Given the description of an element on the screen output the (x, y) to click on. 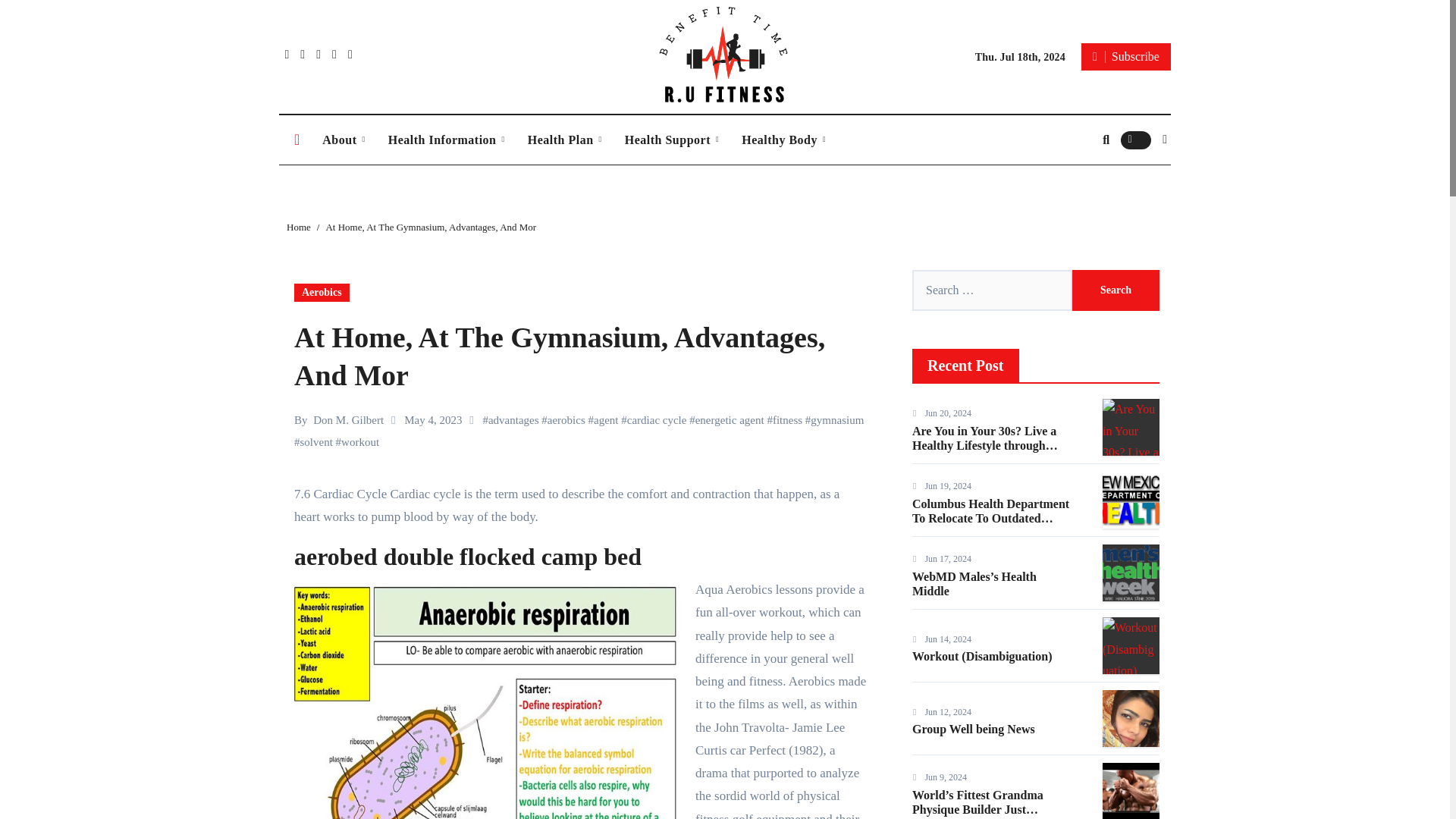
Home (296, 140)
Health Support (671, 139)
About (343, 139)
Health Information (446, 139)
Health Plan (564, 139)
Search (1114, 290)
Subscribe (1125, 56)
Search (1114, 290)
About (343, 139)
Health Information (446, 139)
